Given the description of an element on the screen output the (x, y) to click on. 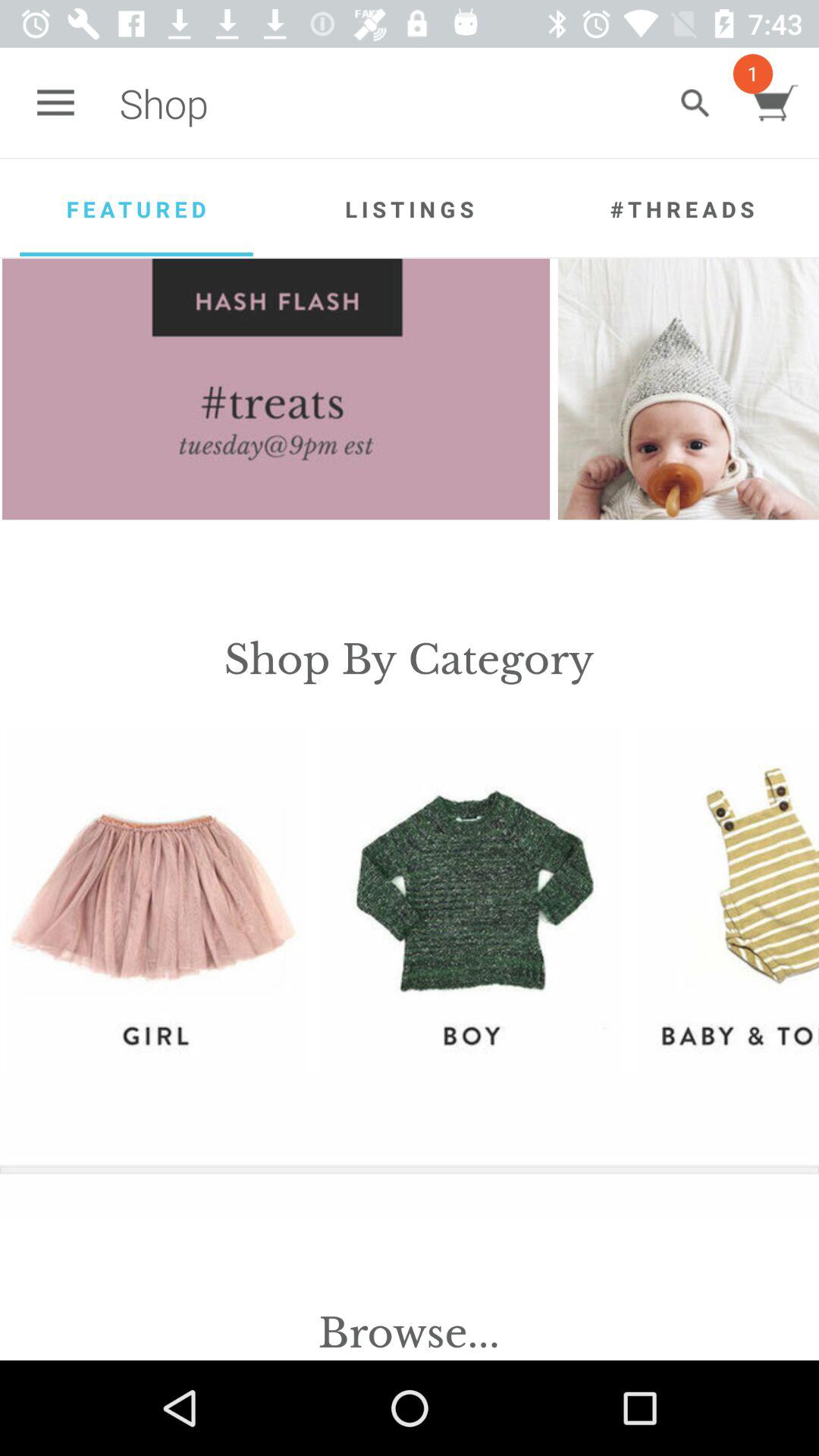
turn on the item on the left (154, 899)
